Given the description of an element on the screen output the (x, y) to click on. 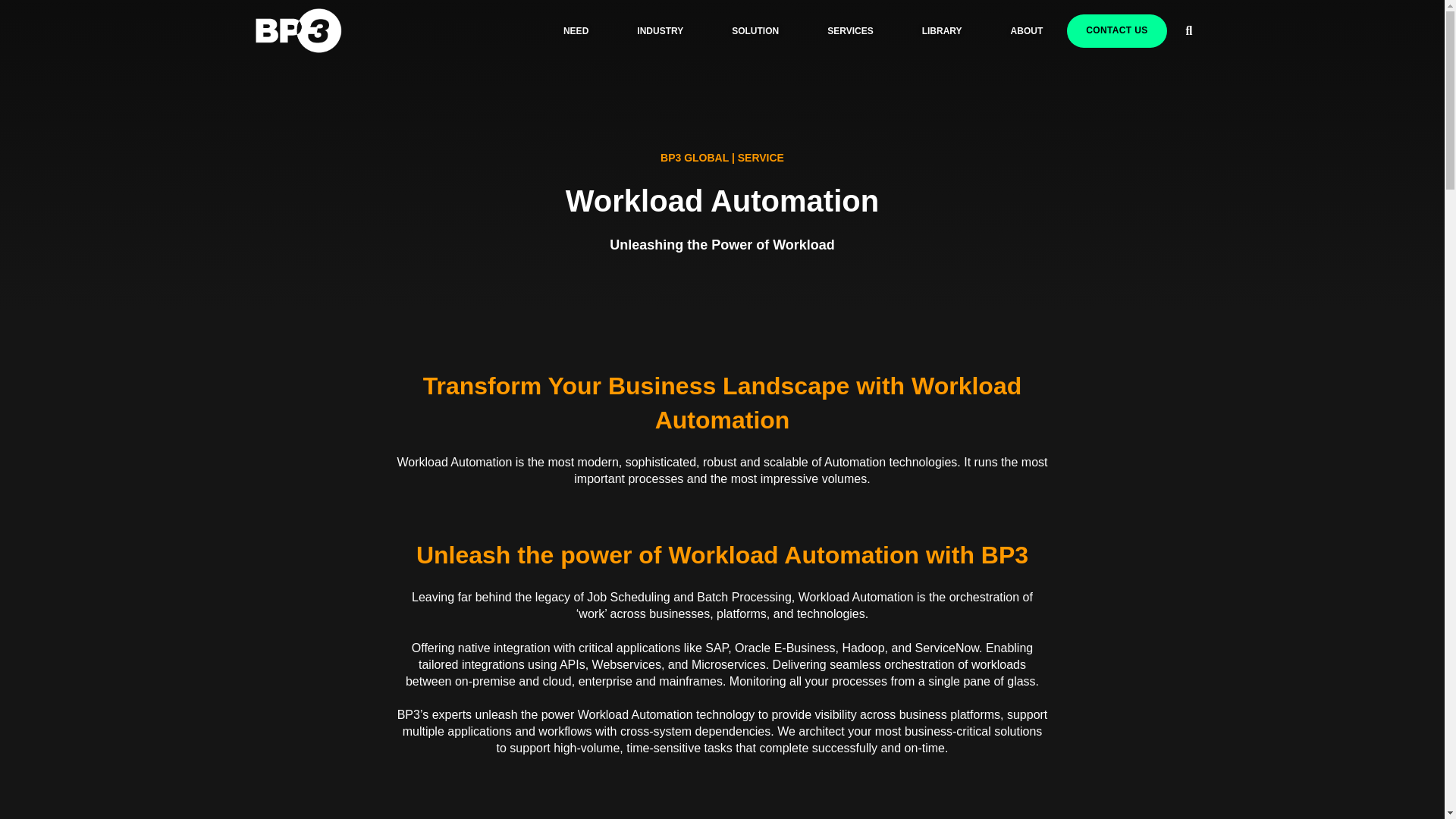
SERVICES (849, 30)
SOLUTION (755, 30)
INDUSTRY (659, 30)
